Given the description of an element on the screen output the (x, y) to click on. 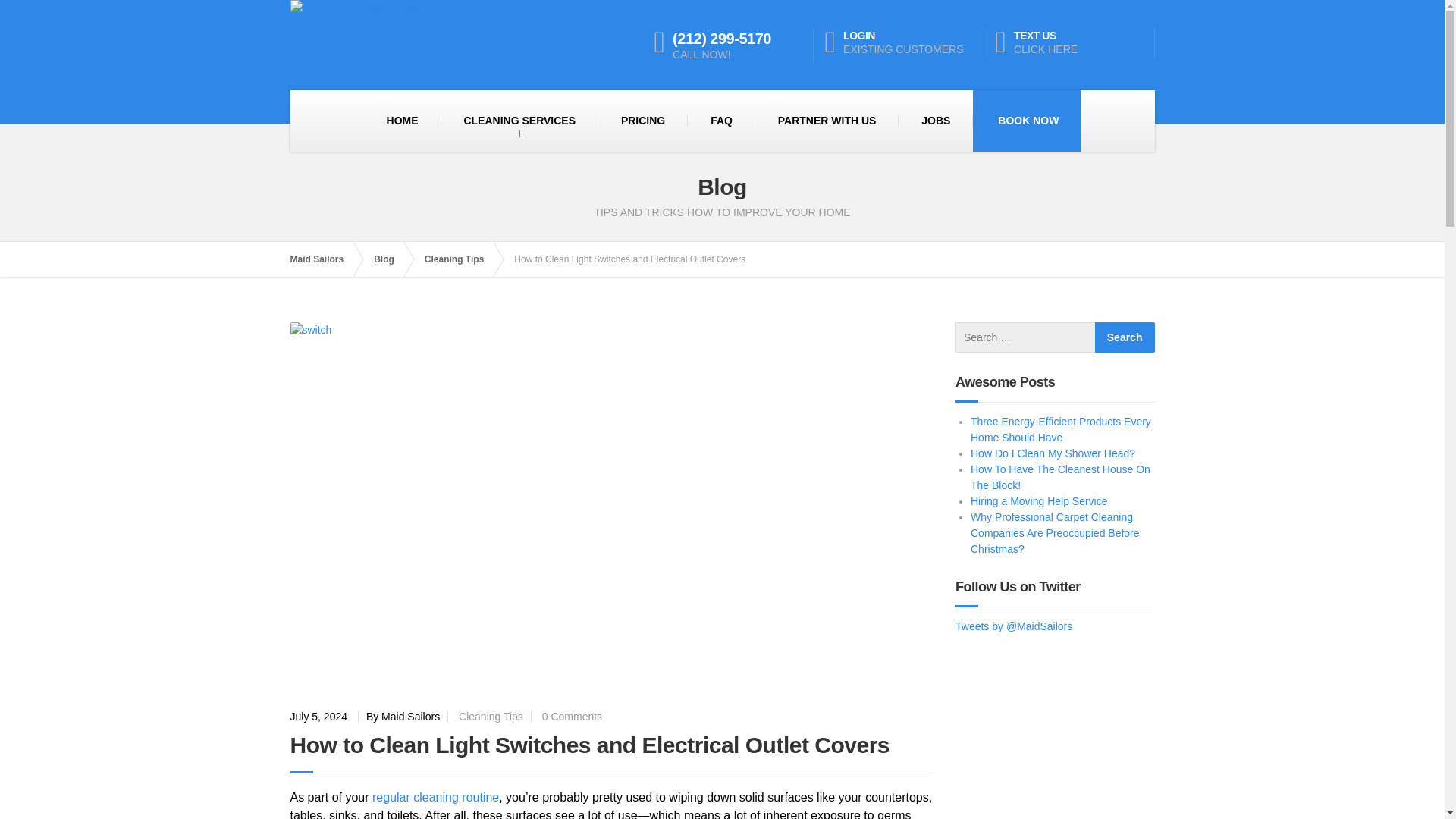
FAQ (721, 120)
Cleaning Tips (462, 258)
Search (1074, 42)
Blog (1124, 337)
Cleaning Tips (391, 258)
0 Comments (490, 716)
Go to the Cleaning Tips Category archives. (571, 716)
How Do I Clean My Shower Head? (462, 258)
PRICING (1053, 453)
BOOK NOW (642, 120)
How To Have The Cleanest House On The Block! (1028, 120)
Hiring a Moving Help Service (1060, 477)
CLEANING SERVICES (1039, 500)
JOBS (519, 120)
